Given the description of an element on the screen output the (x, y) to click on. 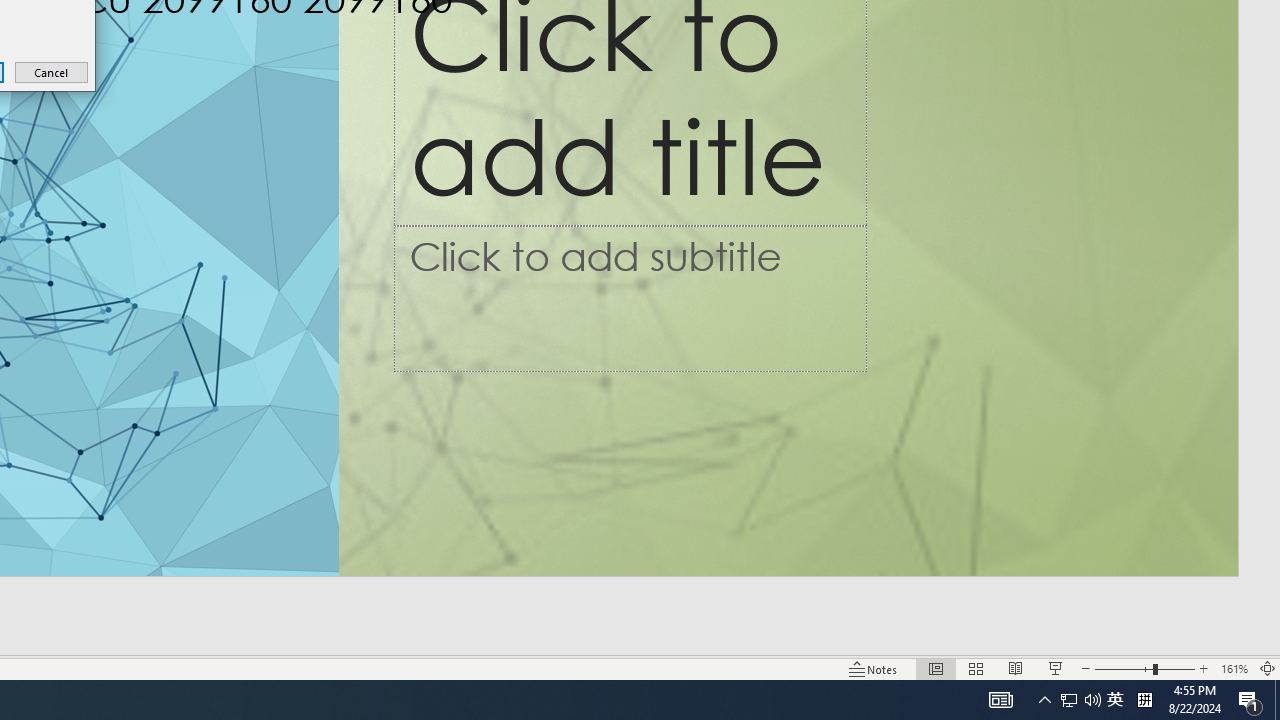
Zoom 161% (1234, 668)
